Given the description of an element on the screen output the (x, y) to click on. 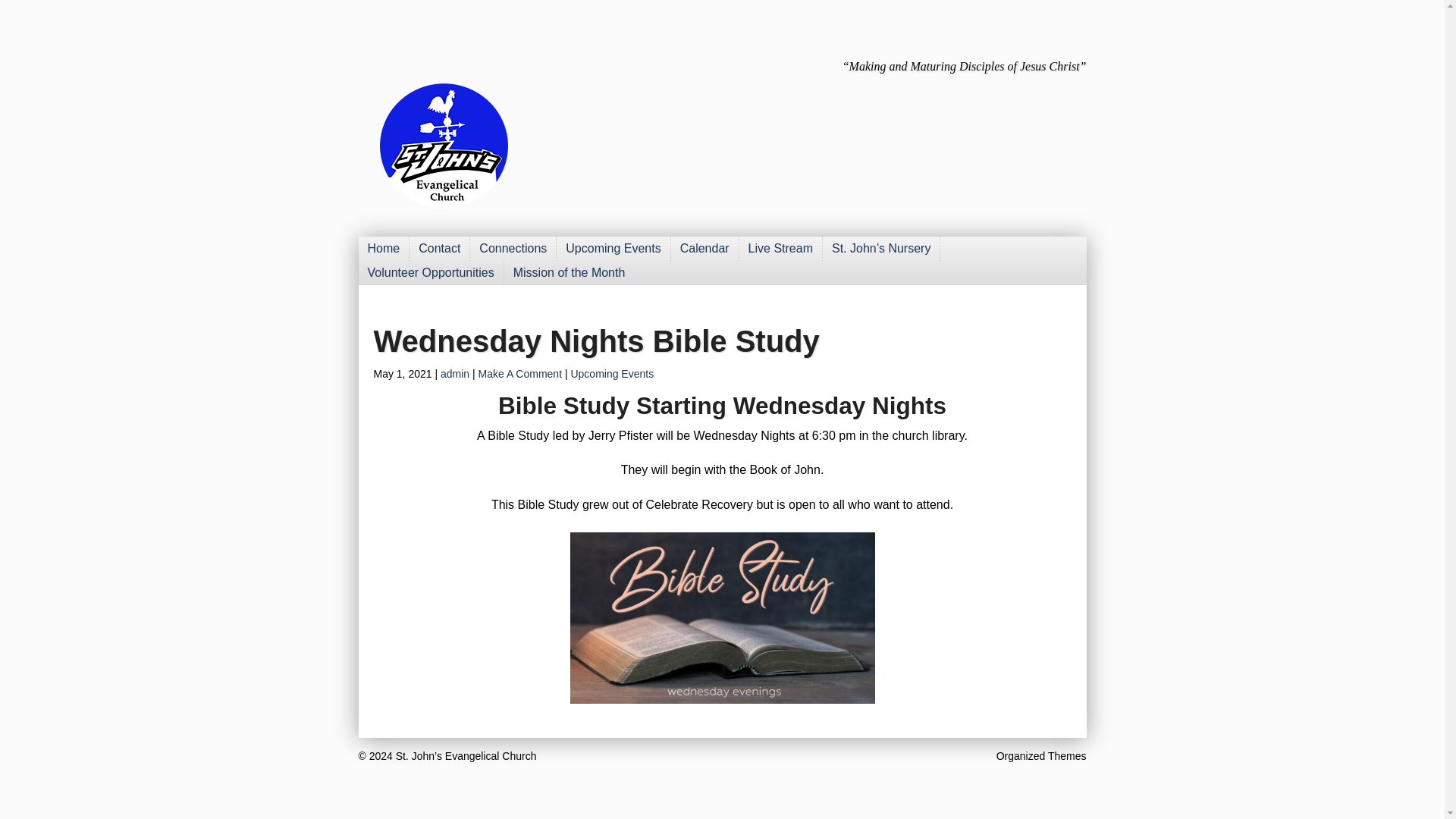
Upcoming Events (612, 248)
Volunteer Opportunities (430, 273)
Posts by admin (454, 373)
Mission of the Month (568, 273)
admin (454, 373)
Make A Comment (520, 373)
Calendar (705, 248)
Upcoming Events (611, 373)
Home (383, 248)
Contact (439, 248)
